Given the description of an element on the screen output the (x, y) to click on. 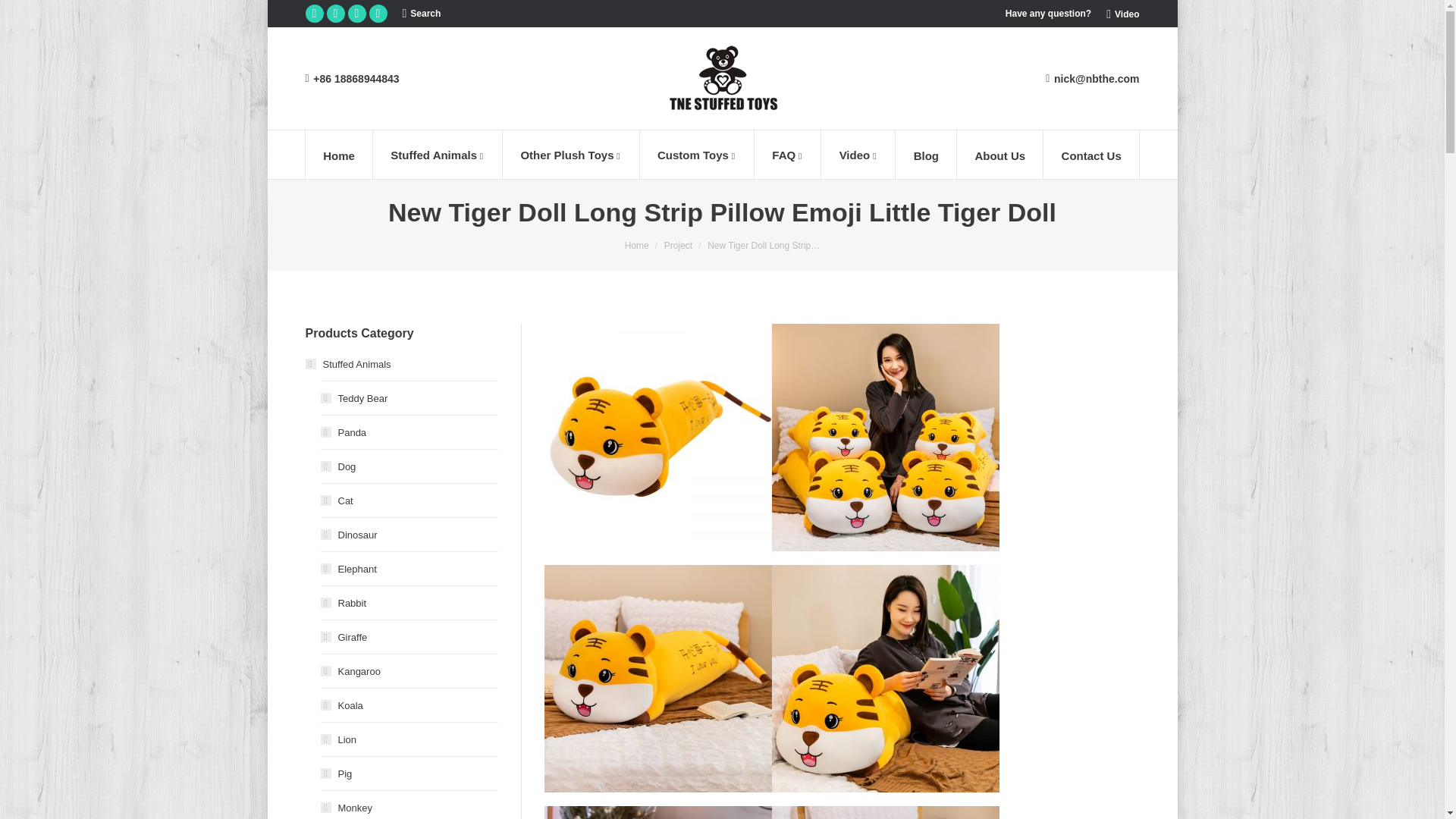
Twitter (356, 13)
Go! (22, 14)
Other Plush Toys (571, 154)
Search (421, 13)
Pinterest (334, 13)
Home (338, 154)
YouTube (313, 13)
Stuffed Animals (437, 154)
YouTube (313, 13)
Twitter (356, 13)
Pinterest (334, 13)
